Given the description of an element on the screen output the (x, y) to click on. 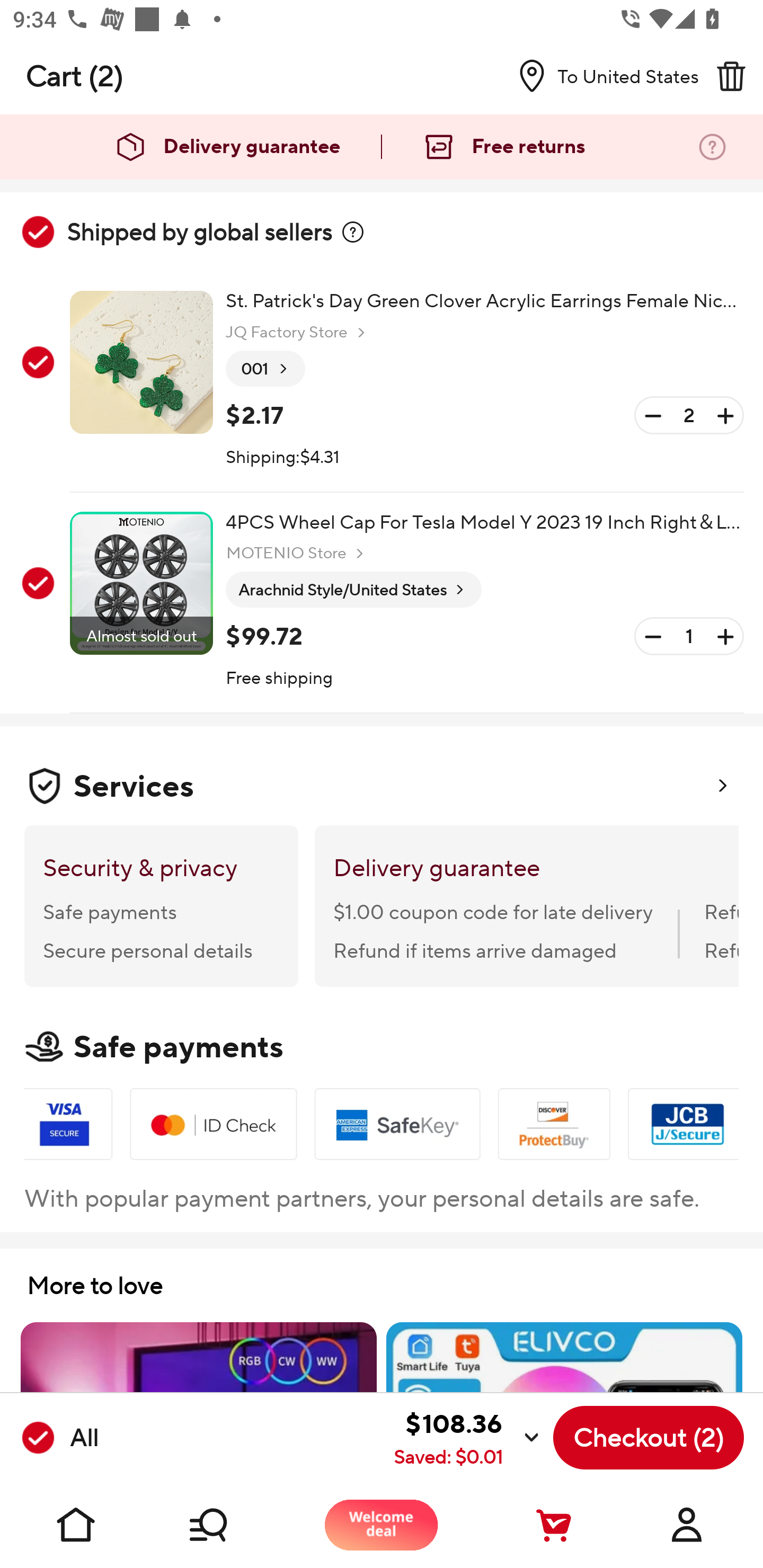
 To United States (601, 75)
 (730, 75)
 (352, 231)
JQ Factory Store (297, 333)
001 (265, 369)
2 (688, 415)
Shipping:$4.31 (282, 457)
MOTENIO Store (296, 553)
Arachnid Style/United States (353, 590)
1 (688, 636)
Free shipping (279, 678)
$_108.36 Saved: $0.01  (324, 1437)
Checkout (2) (648, 1437)
Home (76, 1524)
Shop (228, 1524)
Account (686, 1524)
